Given the description of an element on the screen output the (x, y) to click on. 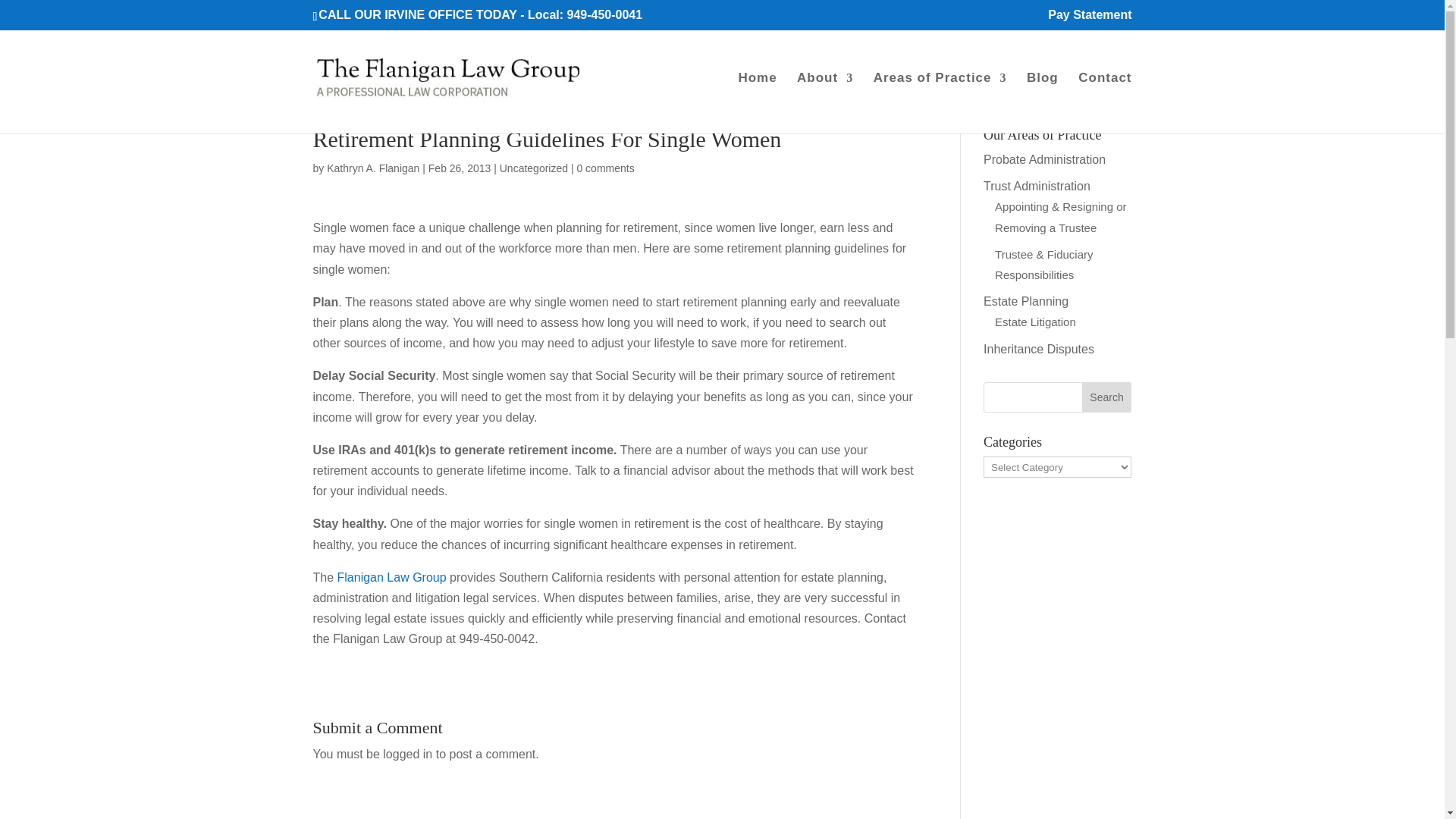
Pay Statement (1089, 19)
0 comments (604, 168)
Uncategorized (533, 168)
About (824, 102)
Local: 949-450-0041 (584, 14)
Flanigan Law Group (391, 576)
Inheritance Disputes (1039, 349)
Posts by Kathryn A. Flanigan (372, 168)
Search (1106, 397)
Kathryn A. Flanigan (372, 168)
Search (1106, 397)
Estate Litigation (1034, 321)
Areas of Practice (940, 102)
Estate Planning (1026, 300)
Trust Administration (1037, 185)
